Given the description of an element on the screen output the (x, y) to click on. 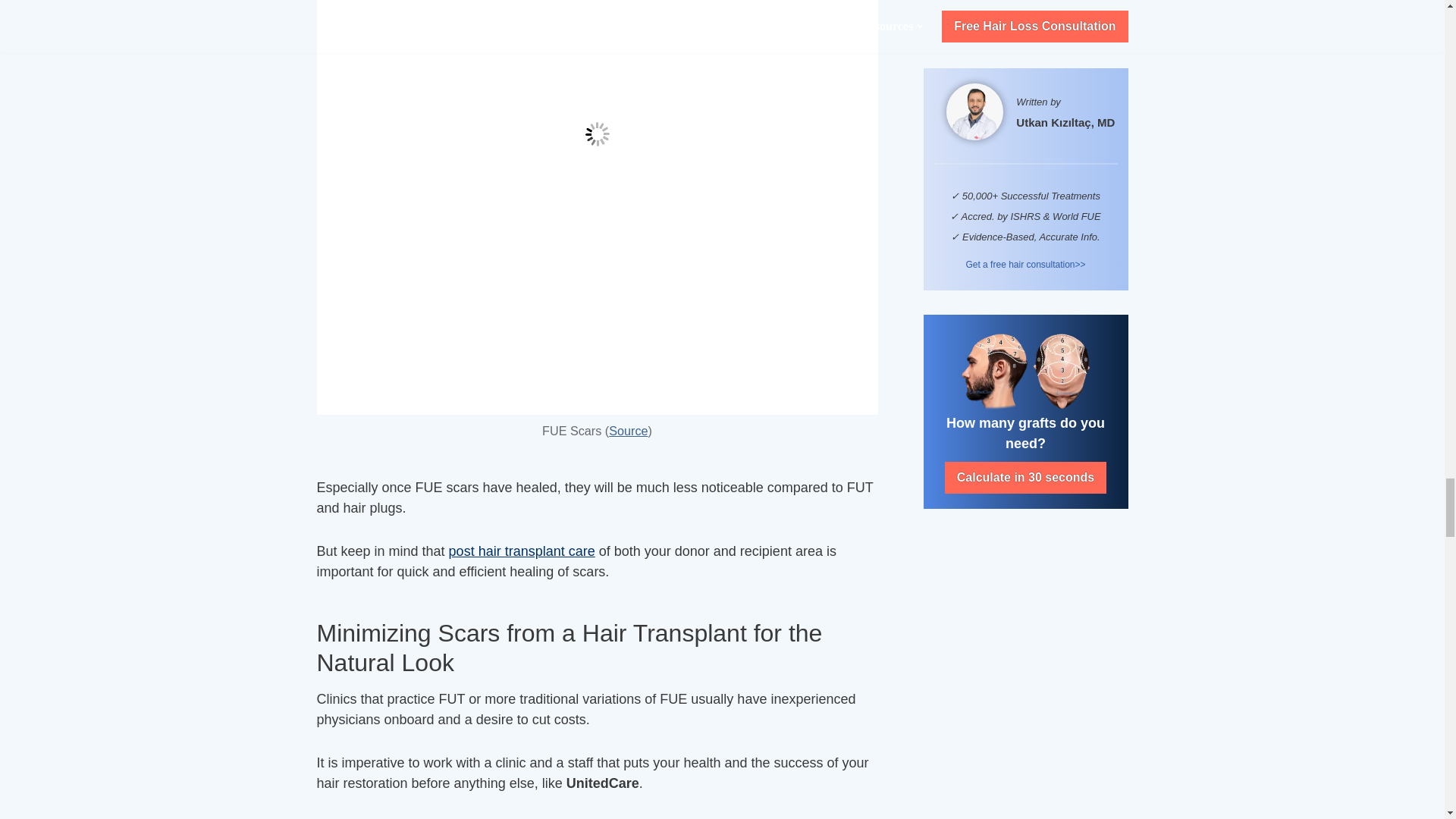
Source (627, 430)
post hair transplant care (521, 550)
